Given the description of an element on the screen output the (x, y) to click on. 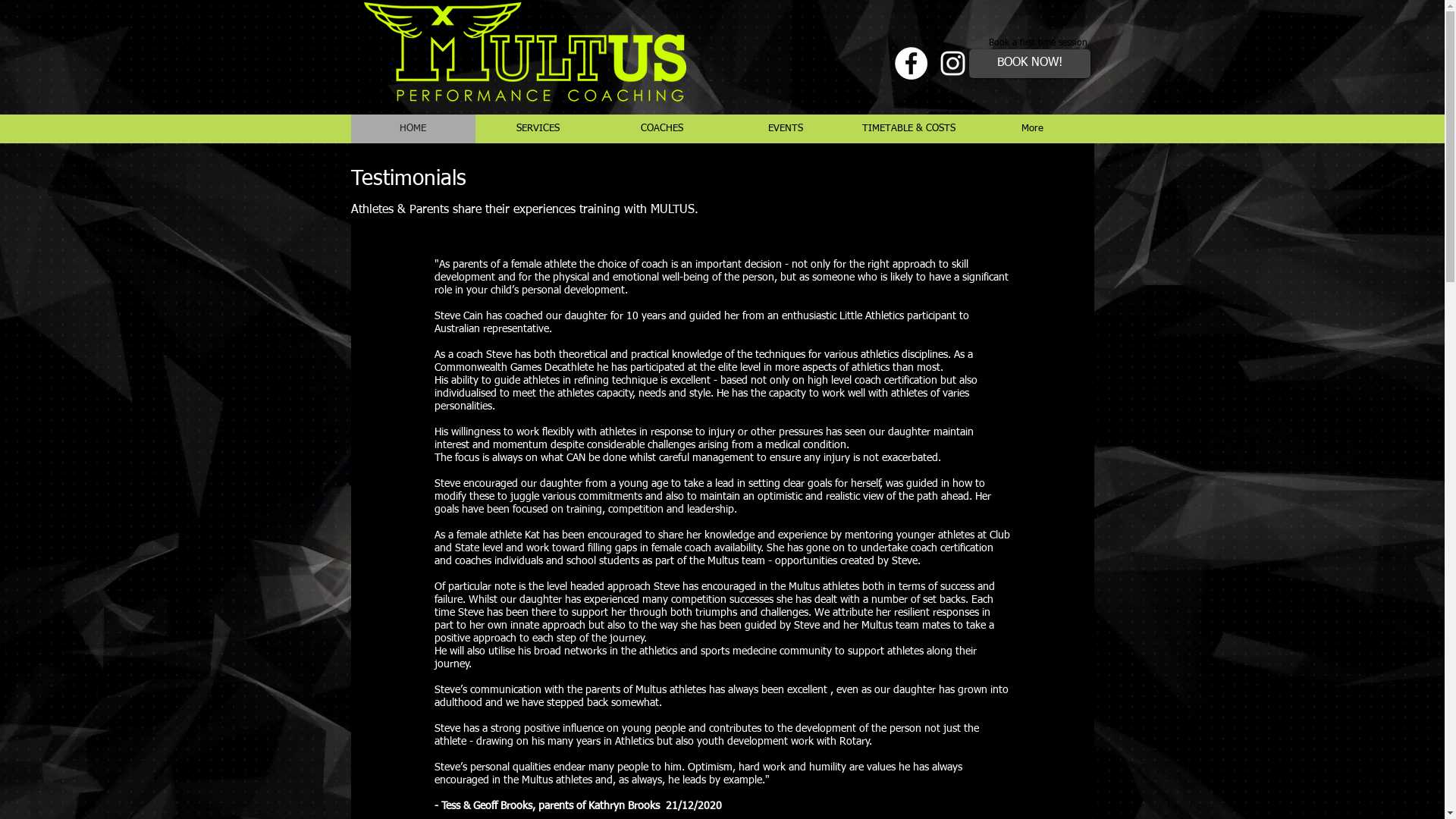
COACHES Element type: text (660, 128)
TIMETABLE & COSTS Element type: text (907, 128)
EVENTS Element type: text (785, 128)
HOME Element type: text (412, 128)
BOOK NOW! Element type: text (1029, 63)
SERVICES Element type: text (536, 128)
